Given the description of an element on the screen output the (x, y) to click on. 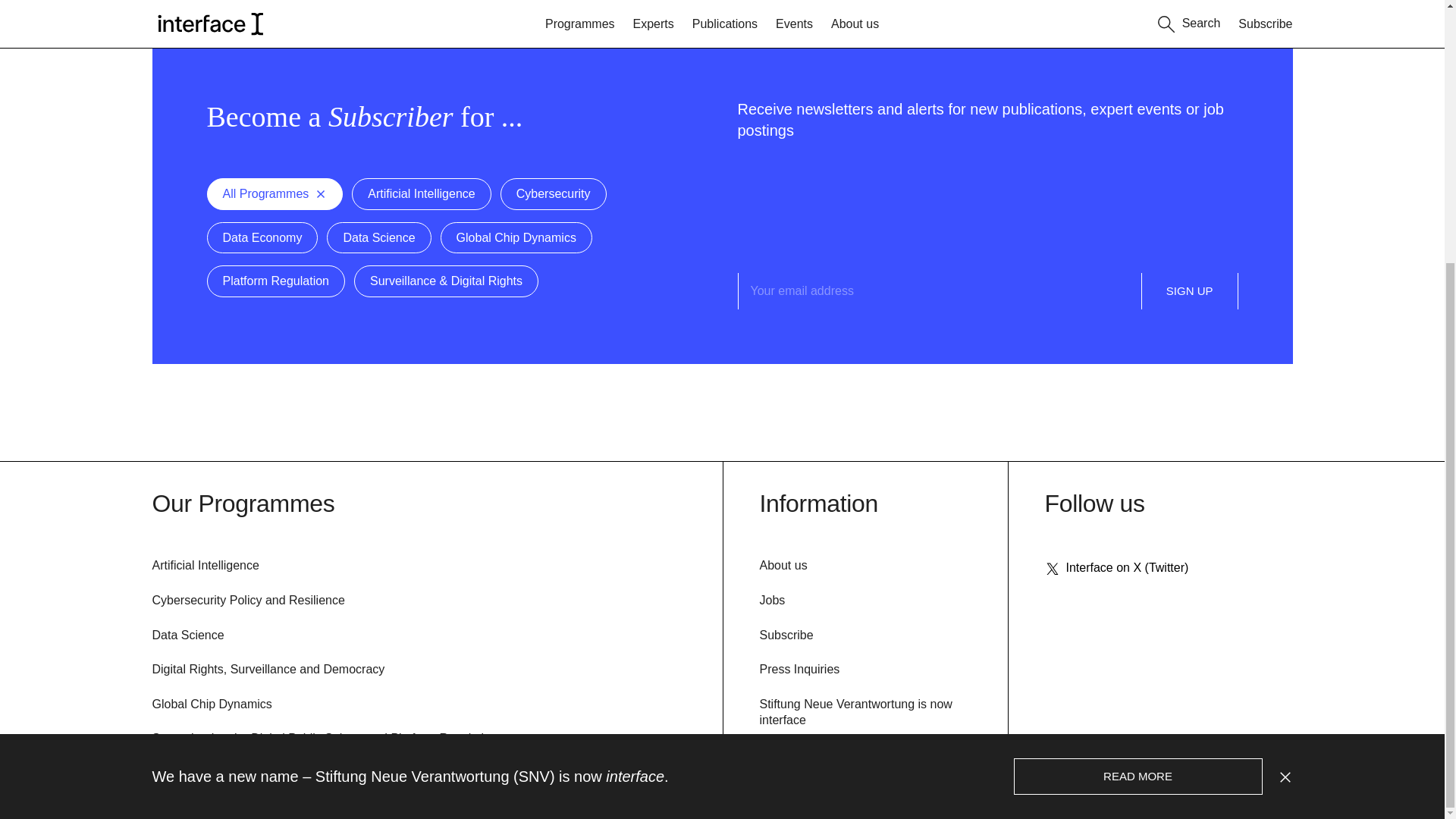
Jobs (773, 601)
About us (784, 566)
Artificial Intelligence (205, 566)
Global Chip Dynamics (210, 704)
SIGN UP (1190, 290)
Data Science (187, 635)
Digital Rights, Surveillance and Democracy (267, 670)
Stiftung Neue Verantwortung is now interface (856, 713)
Cybersecurity Policy and Resilience (247, 601)
Press Inquiries (800, 670)
READ MORE (1137, 398)
Subscribe (786, 635)
